Given the description of an element on the screen output the (x, y) to click on. 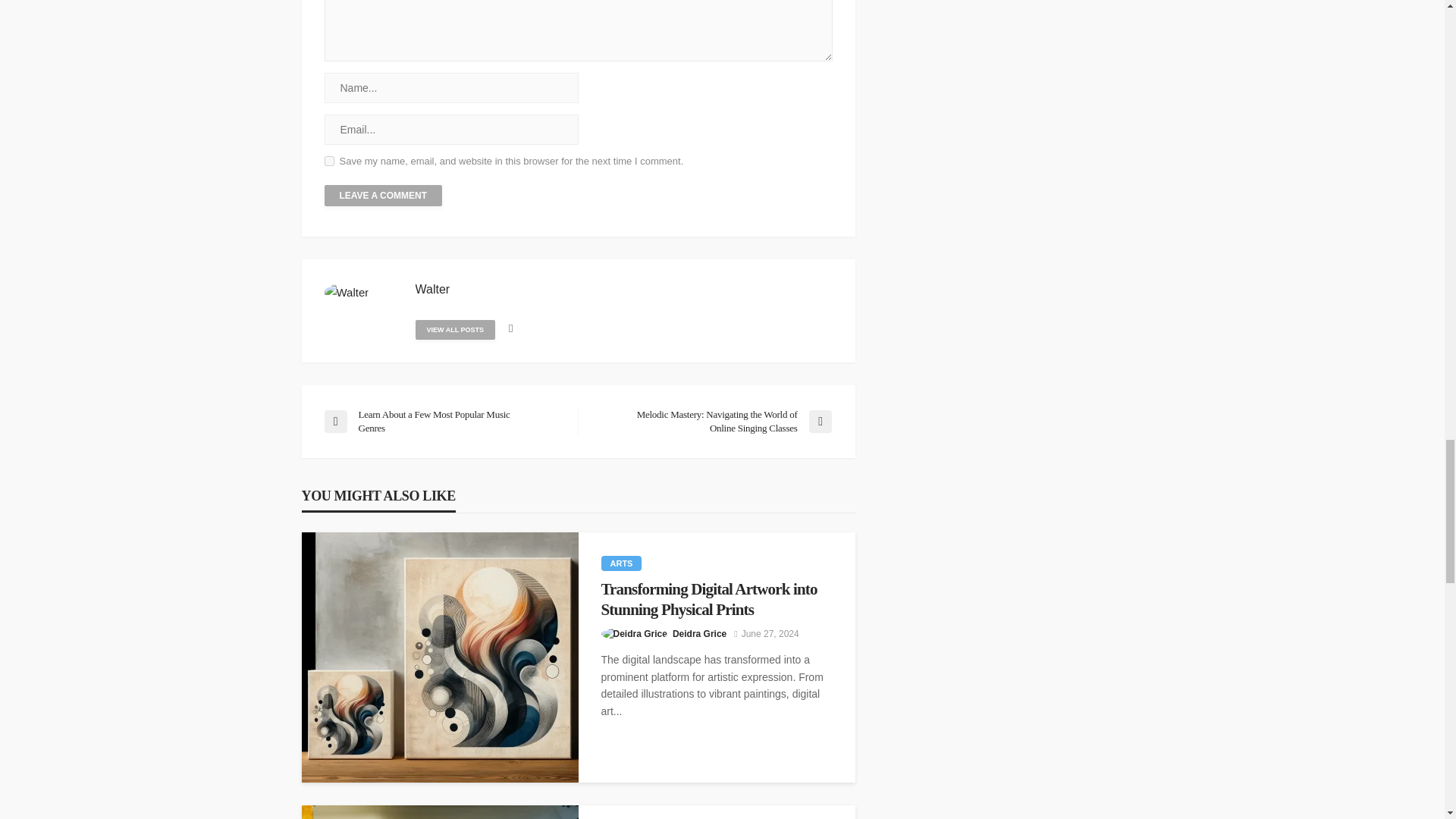
VIEW ALL POSTS (455, 329)
Walter (431, 289)
Leave a comment (383, 195)
Leave a comment (383, 195)
yes (329, 161)
Learn About a Few Most Popular Music Genres (443, 420)
Deidra Grice (699, 633)
